Given the description of an element on the screen output the (x, y) to click on. 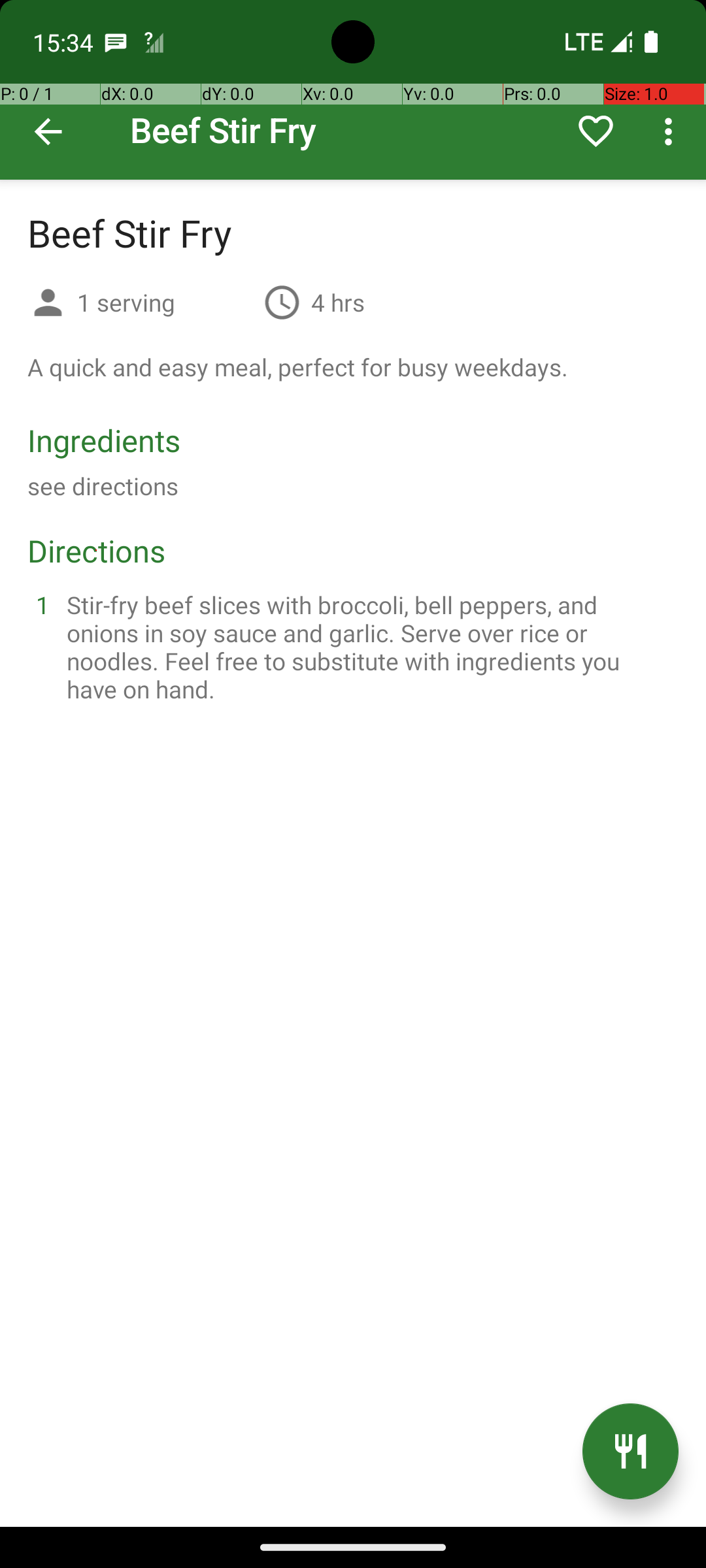
Stir-fry beef slices with broccoli, bell peppers, and onions in soy sauce and garlic. Serve over rice or noodles. Feel free to substitute with ingredients you have on hand. Element type: android.widget.TextView (368, 646)
